Given the description of an element on the screen output the (x, y) to click on. 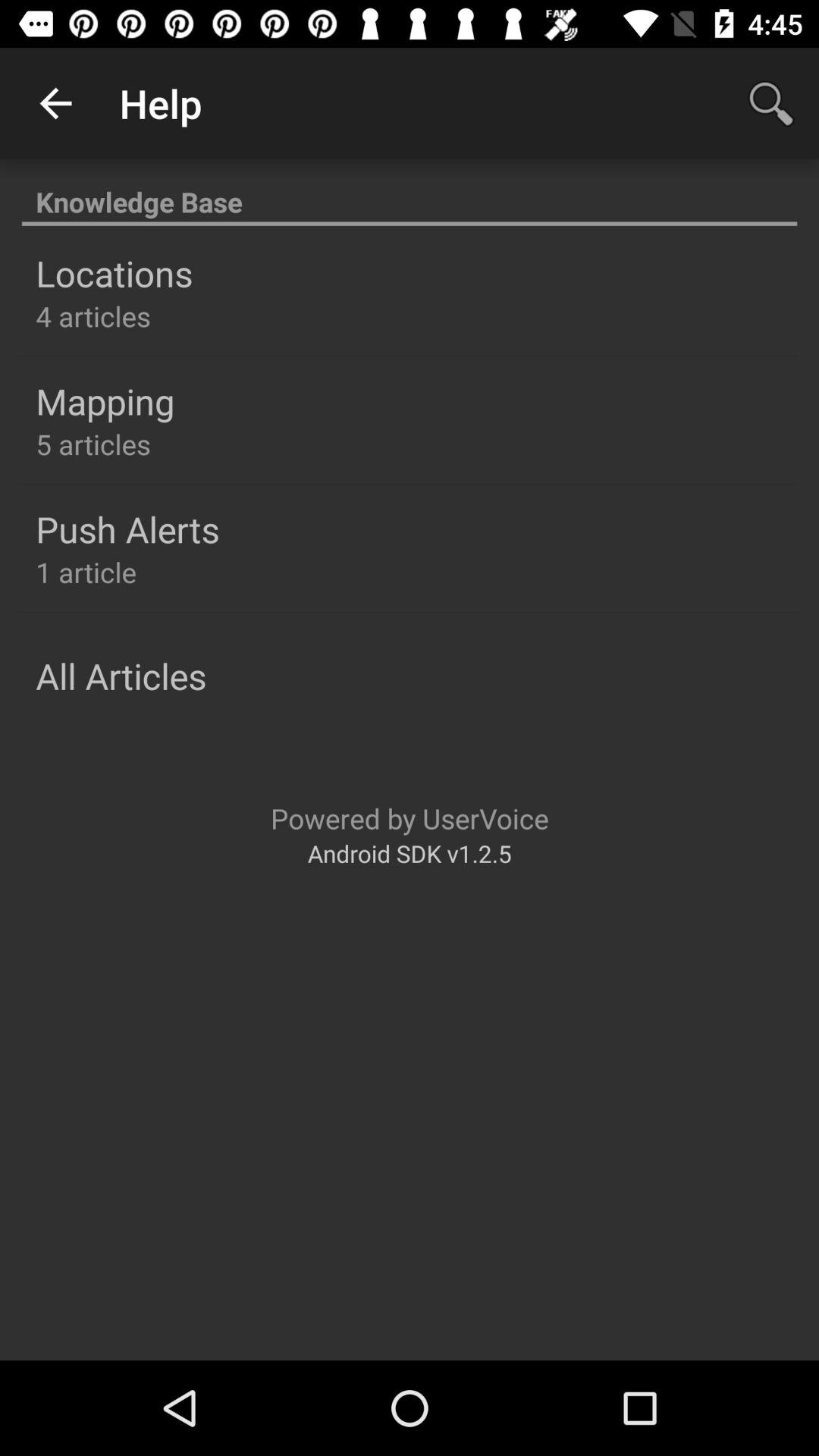
jump to mapping (104, 401)
